Given the description of an element on the screen output the (x, y) to click on. 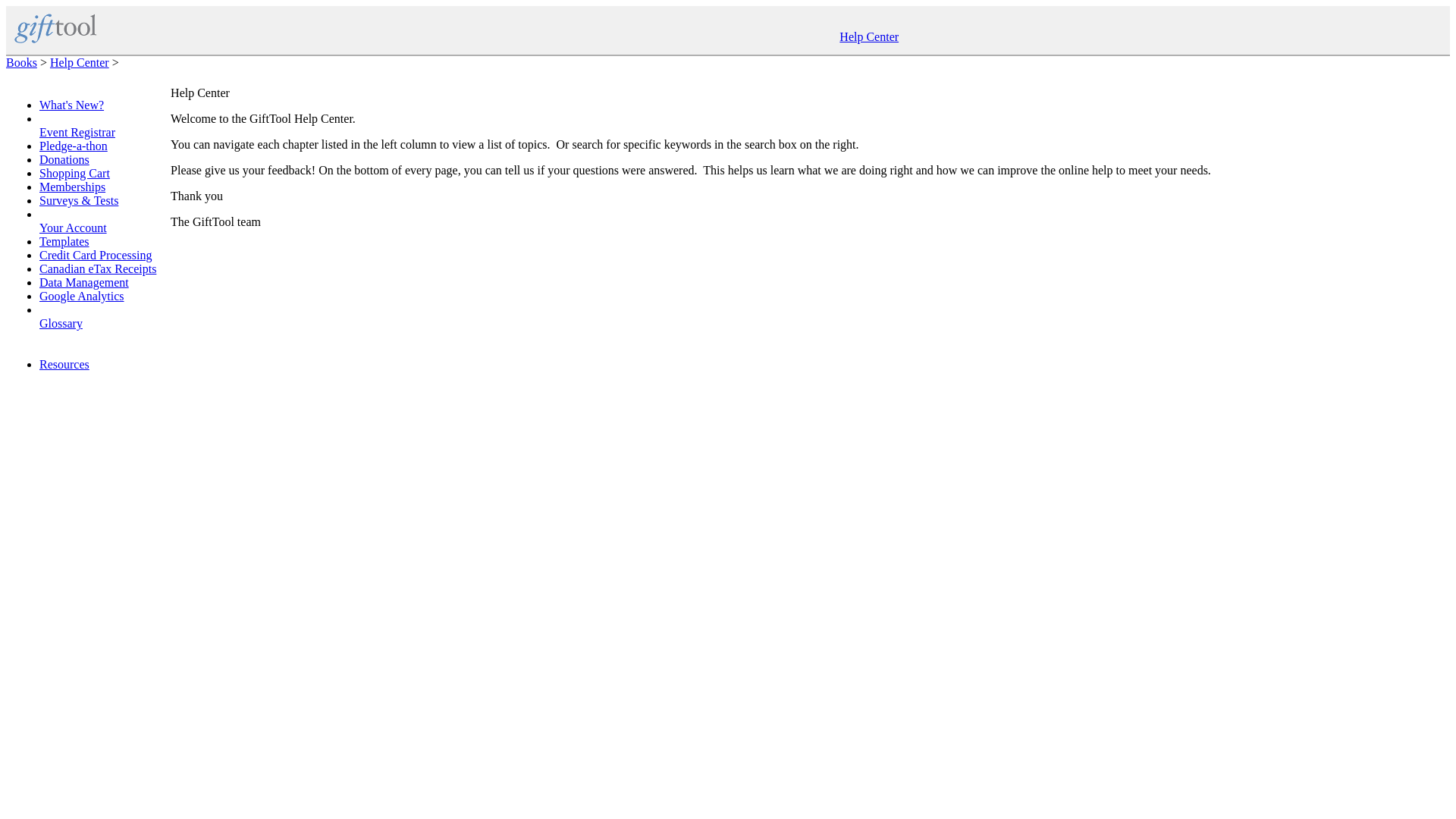
Canadian eTax Receipts (97, 268)
Your Account (72, 234)
Memberships (71, 186)
Resources (63, 364)
Help Center (79, 62)
What's New? (71, 104)
Books (21, 62)
Pledge-a-thon (73, 145)
Event Registrar (77, 139)
Credit Card Processing (95, 254)
Google Analytics (81, 295)
Shopping Cart (74, 173)
Templates (63, 241)
Glossary (60, 329)
Data Management (84, 282)
